Given the description of an element on the screen output the (x, y) to click on. 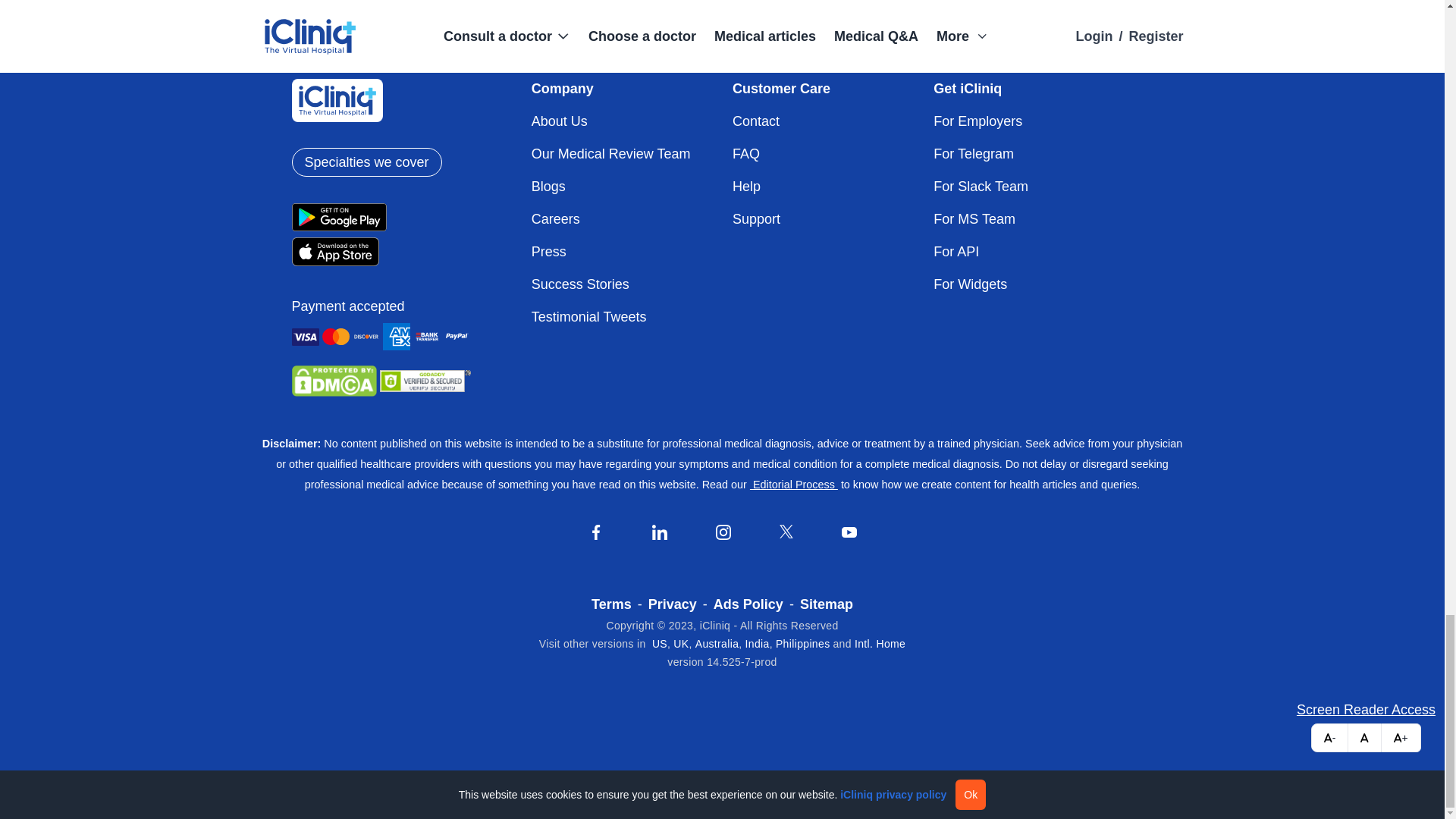
iCliniq Australia (717, 644)
iCliniq India (757, 644)
iCliniq Home (879, 644)
godaddy ssl seal (425, 381)
linkedin (659, 531)
iCliniq UK (680, 644)
iCliniq America (659, 644)
twitter (785, 531)
facebook (596, 531)
instagram (723, 531)
DMCA.com Protection Status (334, 380)
iCliniq Philippines (802, 644)
youtube (849, 531)
